Given the description of an element on the screen output the (x, y) to click on. 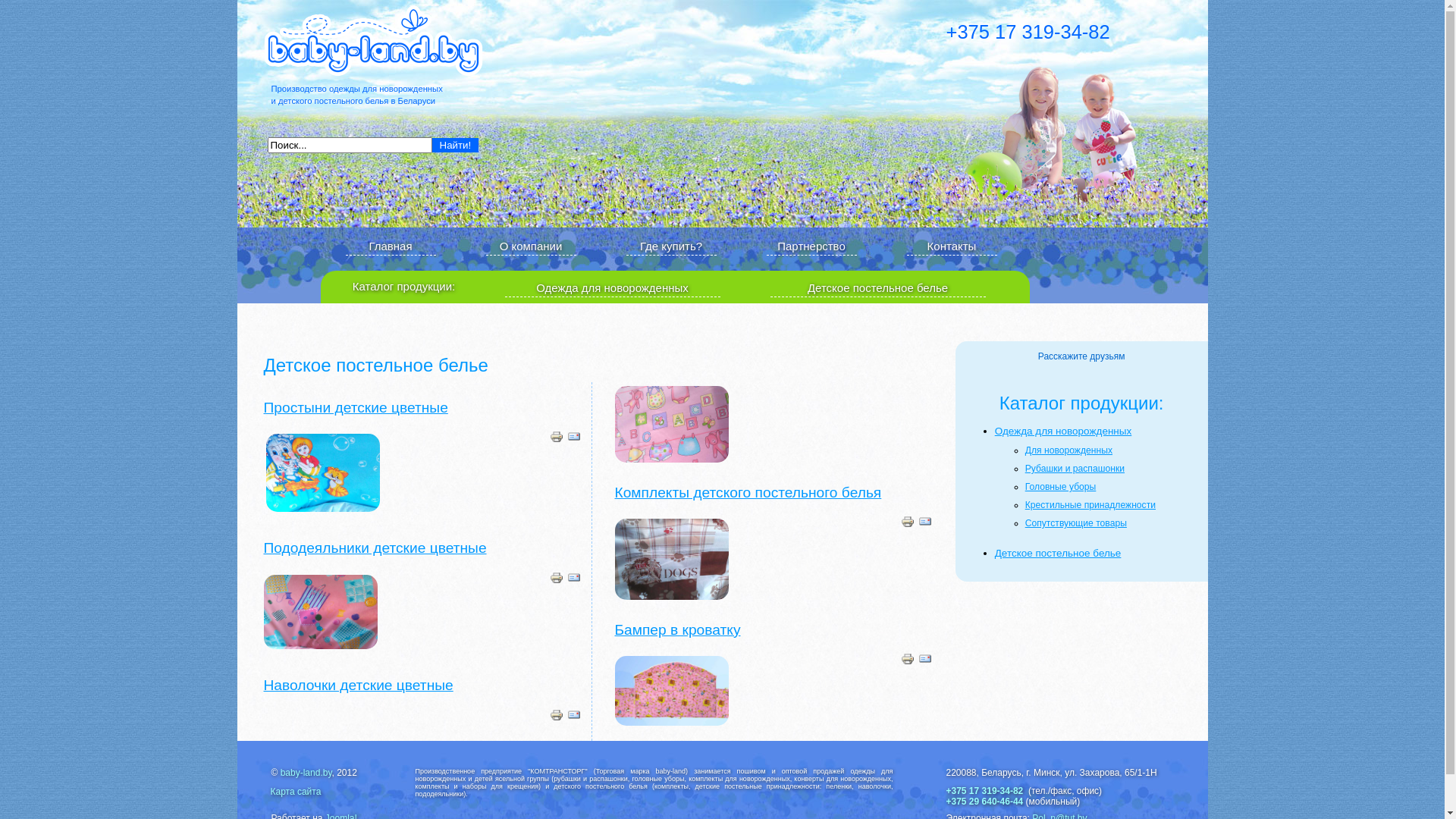
E-mail Element type: hover (573, 441)
E-mail Element type: hover (573, 582)
E-mail Element type: hover (924, 525)
E-mail Element type: hover (924, 663)
baby-land.by Element type: text (306, 772)
E-mail Element type: hover (573, 719)
